Given the description of an element on the screen output the (x, y) to click on. 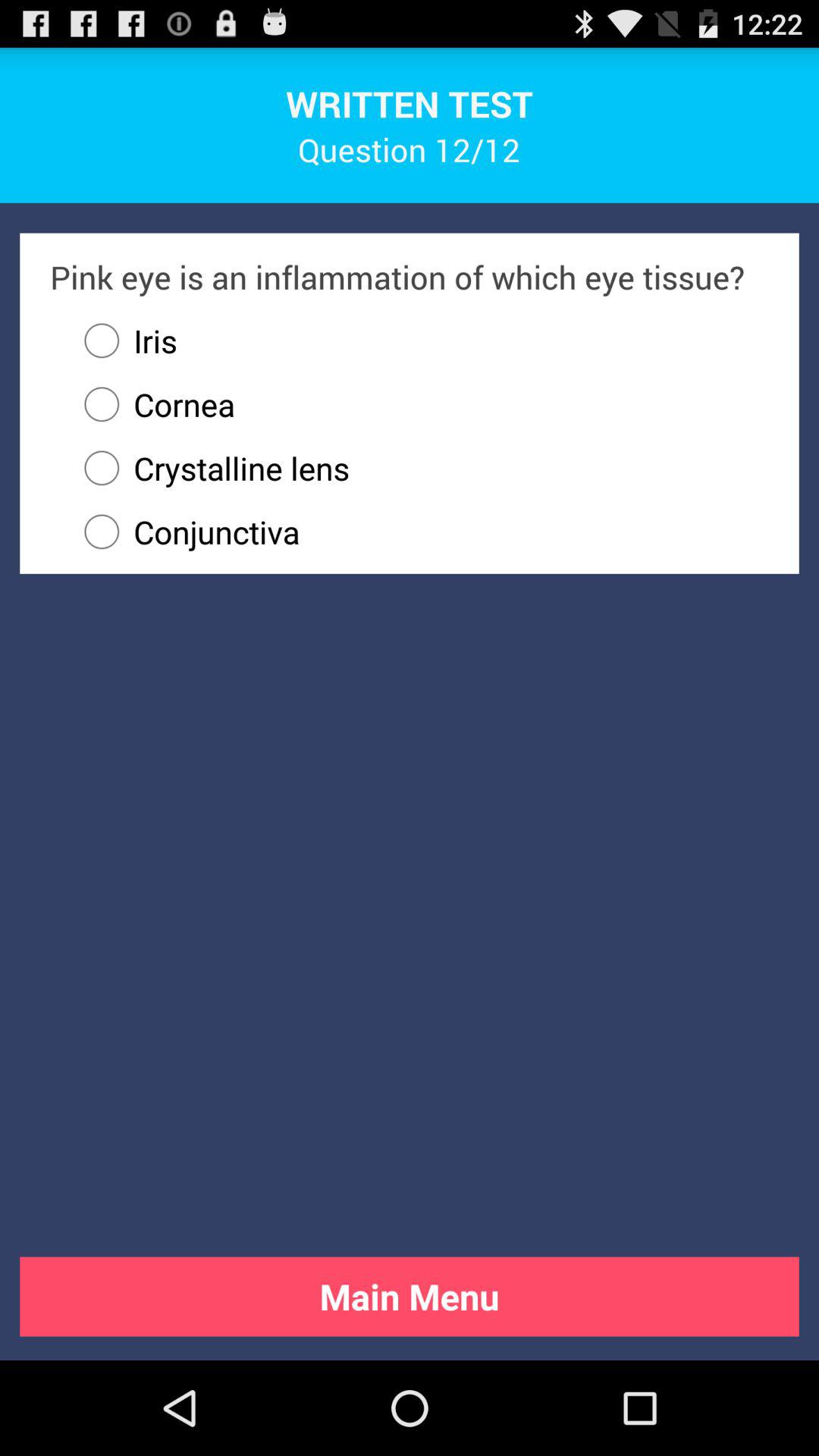
swipe until the iris item (123, 340)
